Given the description of an element on the screen output the (x, y) to click on. 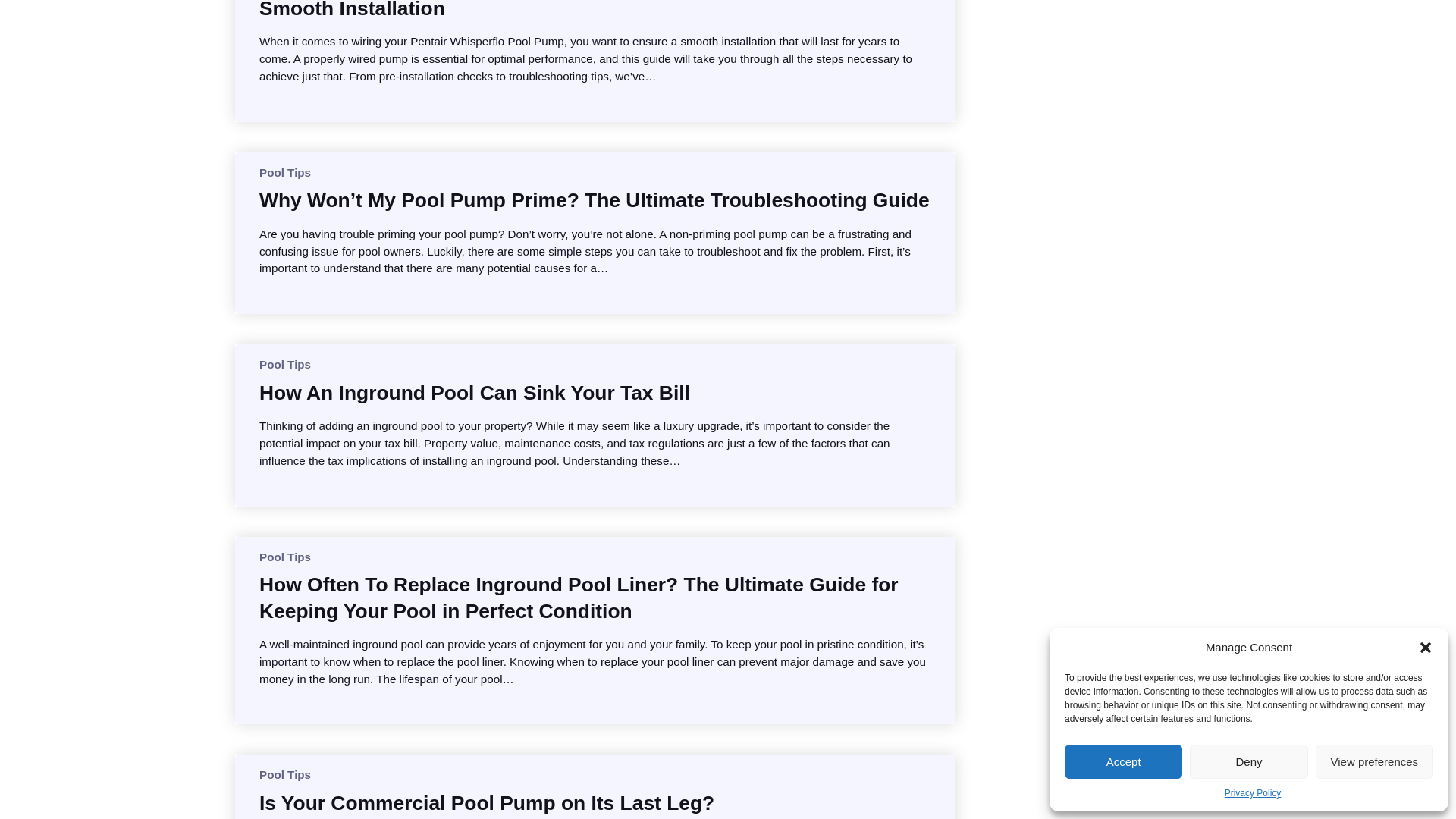
How An Inground Pool Can Sink Your Tax Bill (474, 392)
Pool Tips (285, 774)
Pool Tips (285, 364)
Pool Tips (285, 556)
Pool Tips (285, 172)
Is Your Commercial Pool Pump on Its Last Leg? (486, 802)
